Given the description of an element on the screen output the (x, y) to click on. 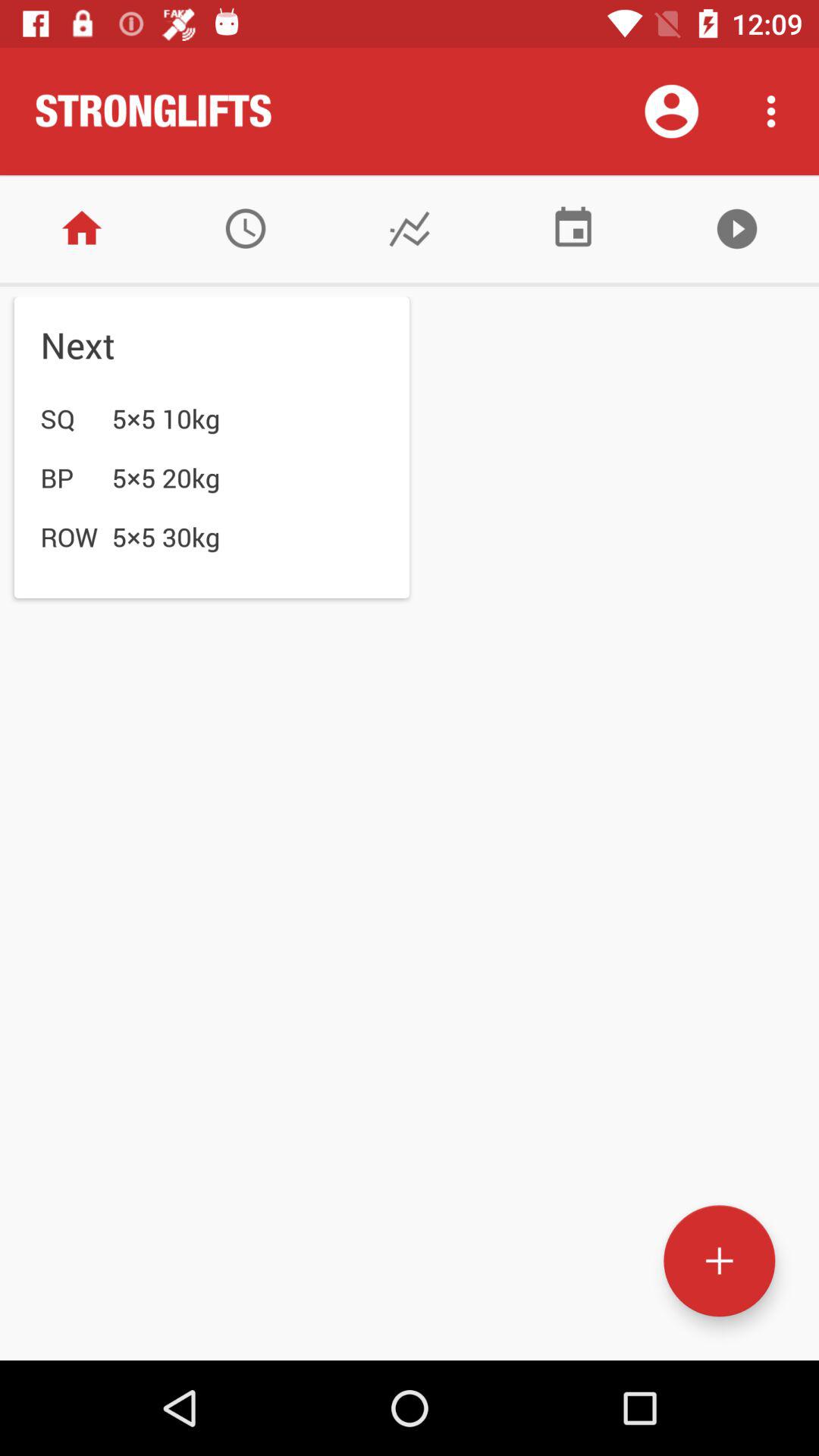
add routine (719, 1260)
